Given the description of an element on the screen output the (x, y) to click on. 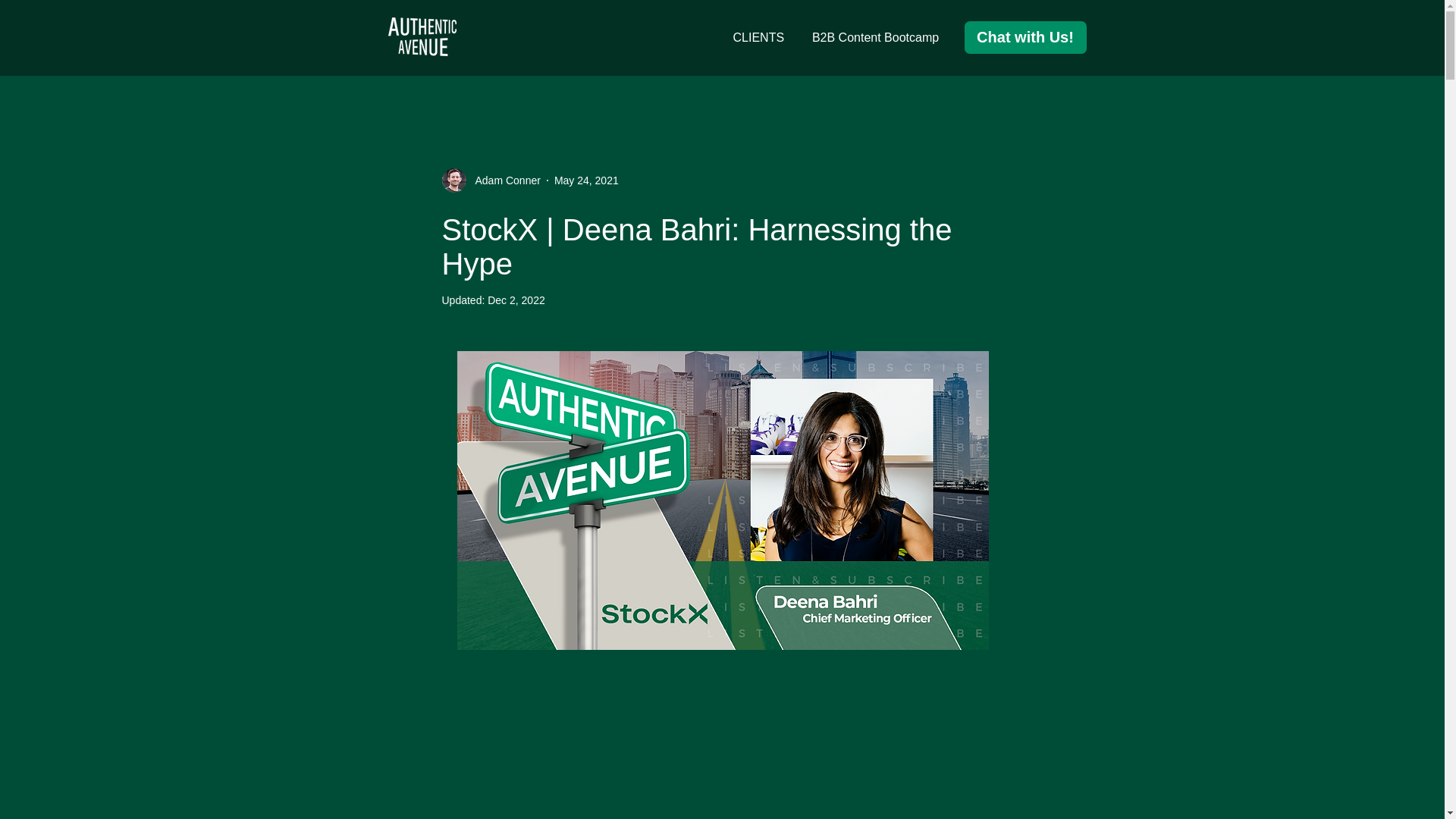
Dec 2, 2022 (515, 300)
B2B Content Bootcamp (874, 37)
Adam Conner (502, 180)
Chat with Us! (1024, 37)
May 24, 2021 (586, 180)
CLIENTS (758, 37)
Adam Conner (490, 180)
